Given the description of an element on the screen output the (x, y) to click on. 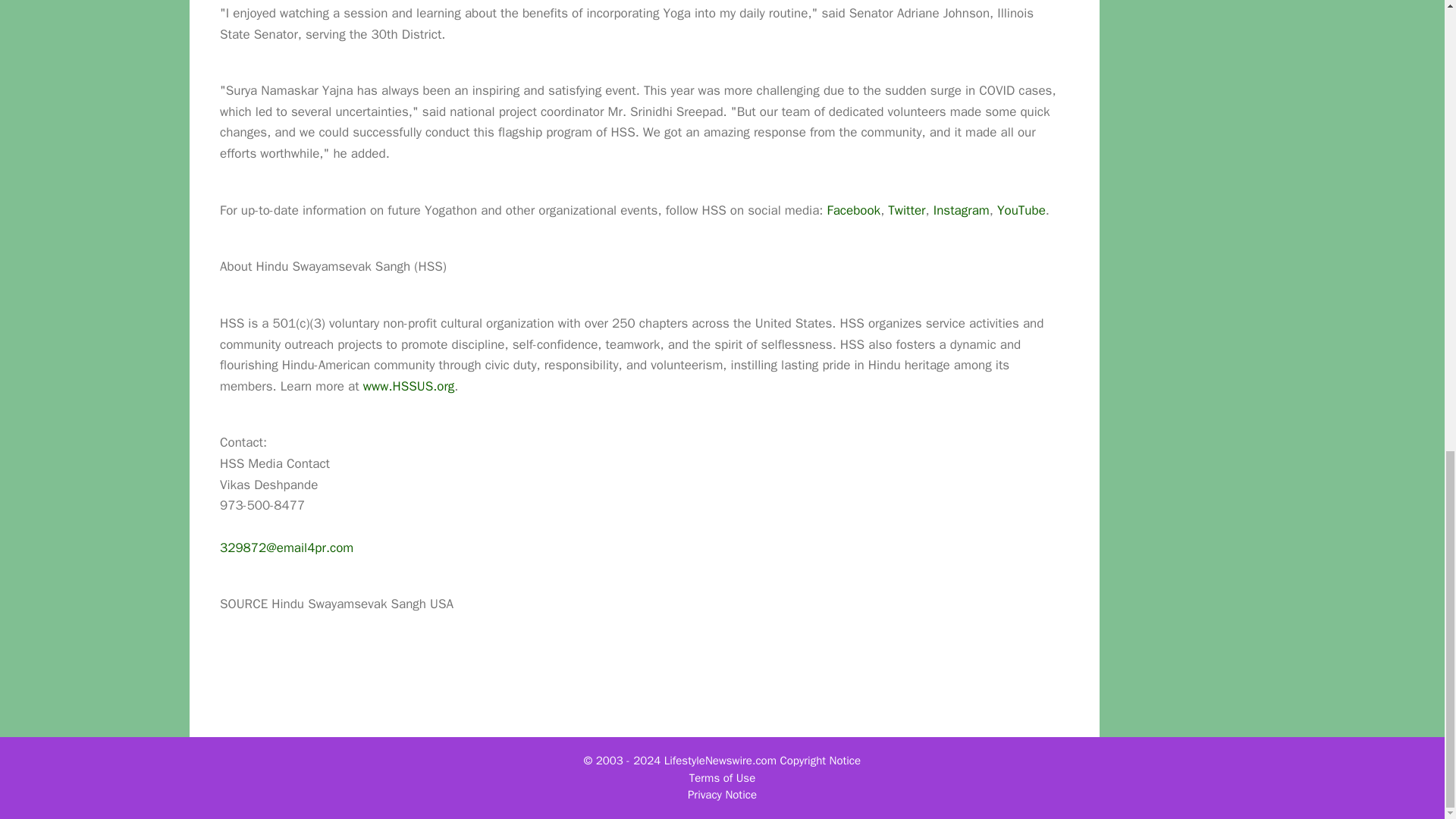
Privacy Notice (722, 794)
www.HSSUS.org (408, 385)
YouTube (1021, 210)
Terms of Use (721, 777)
Facebook (853, 210)
Instagram (961, 210)
Twitter (906, 210)
